Given the description of an element on the screen output the (x, y) to click on. 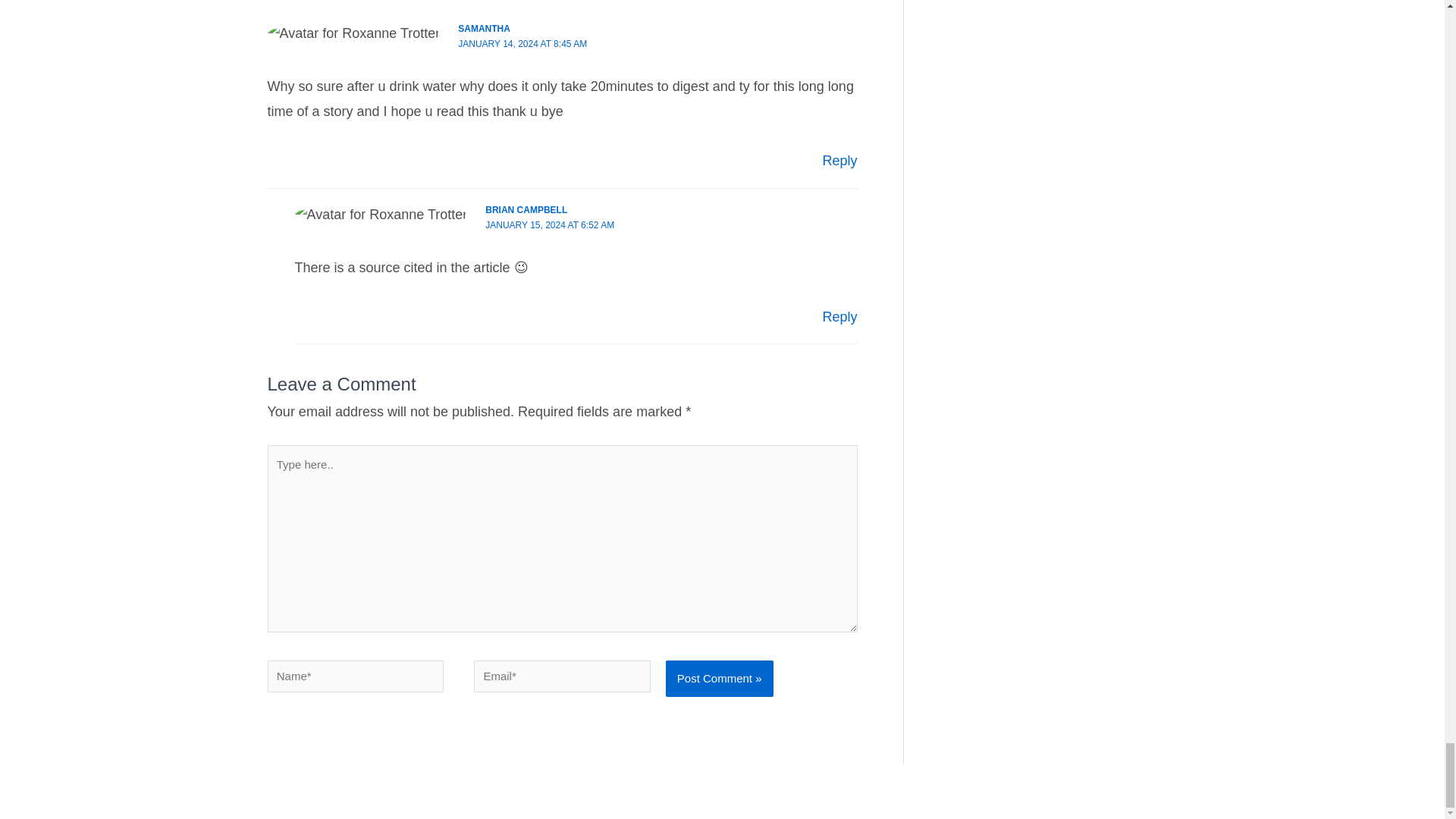
Gravatar for Roxanne Trotter (352, 33)
Gravatar for Roxanne Trotter (380, 214)
